Given the description of an element on the screen output the (x, y) to click on. 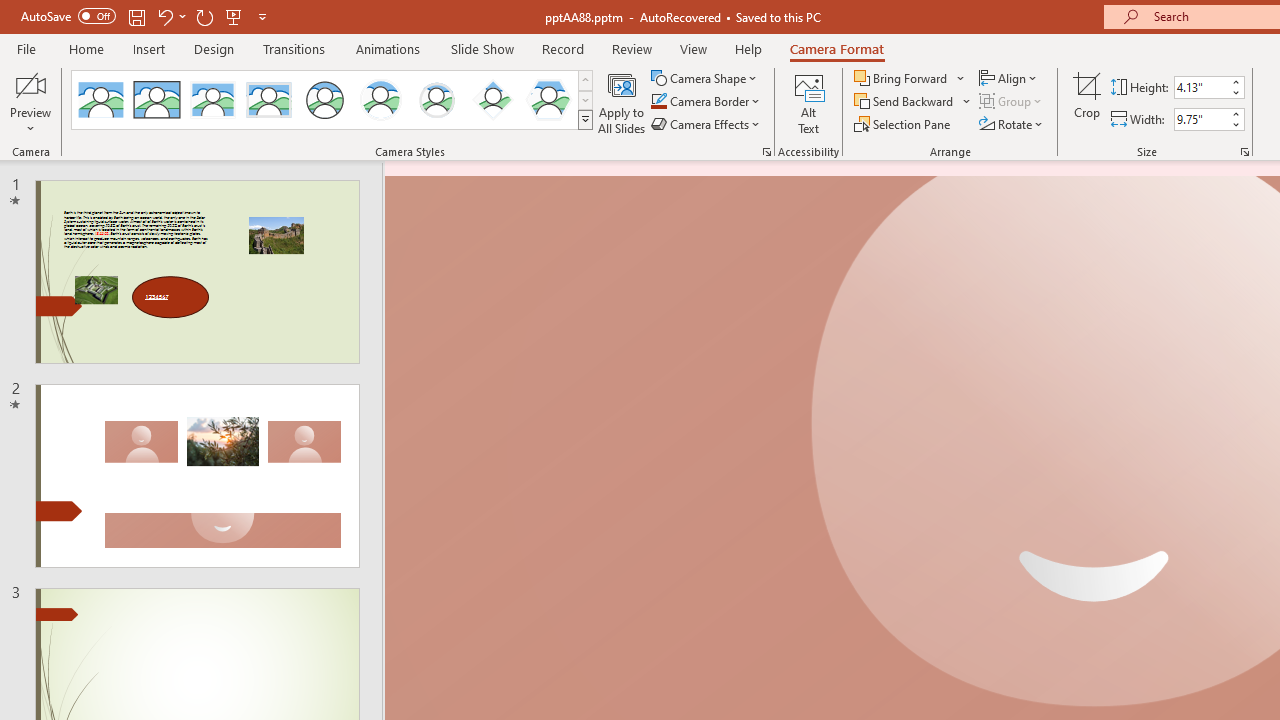
Camera Border (706, 101)
Apply to All Slides (621, 102)
No Style (100, 100)
Camera Border Teal, Accent 1 (658, 101)
Bring Forward (902, 78)
Crop (1087, 102)
Send Backward (905, 101)
Cameo Width (1201, 119)
Soft Edge Circle (436, 100)
Camera Styles (585, 120)
